Given the description of an element on the screen output the (x, y) to click on. 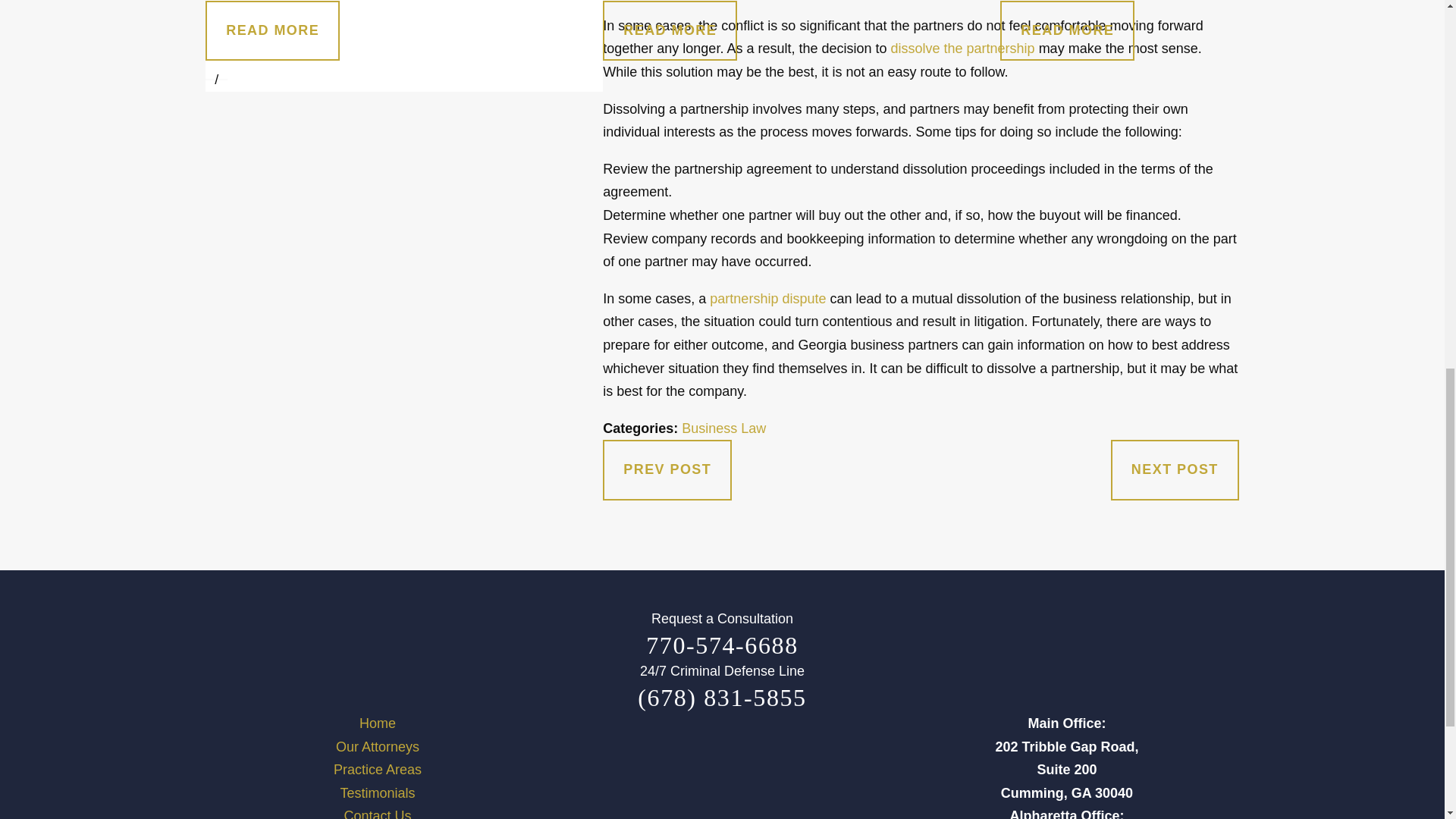
LinkedIn (812, 771)
Facebook (633, 771)
